Given the description of an element on the screen output the (x, y) to click on. 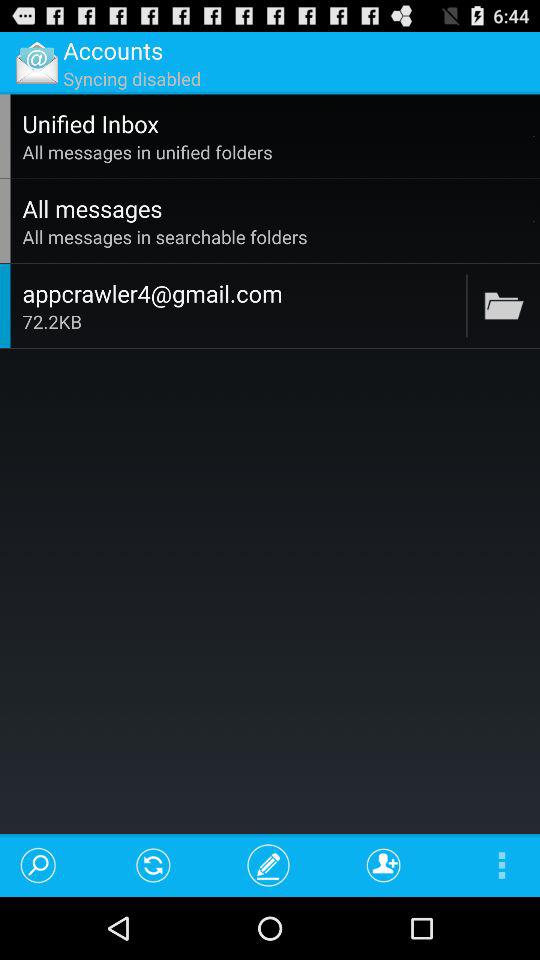
press item below appcrawler4@gmail.com app (241, 321)
